Given the description of an element on the screen output the (x, y) to click on. 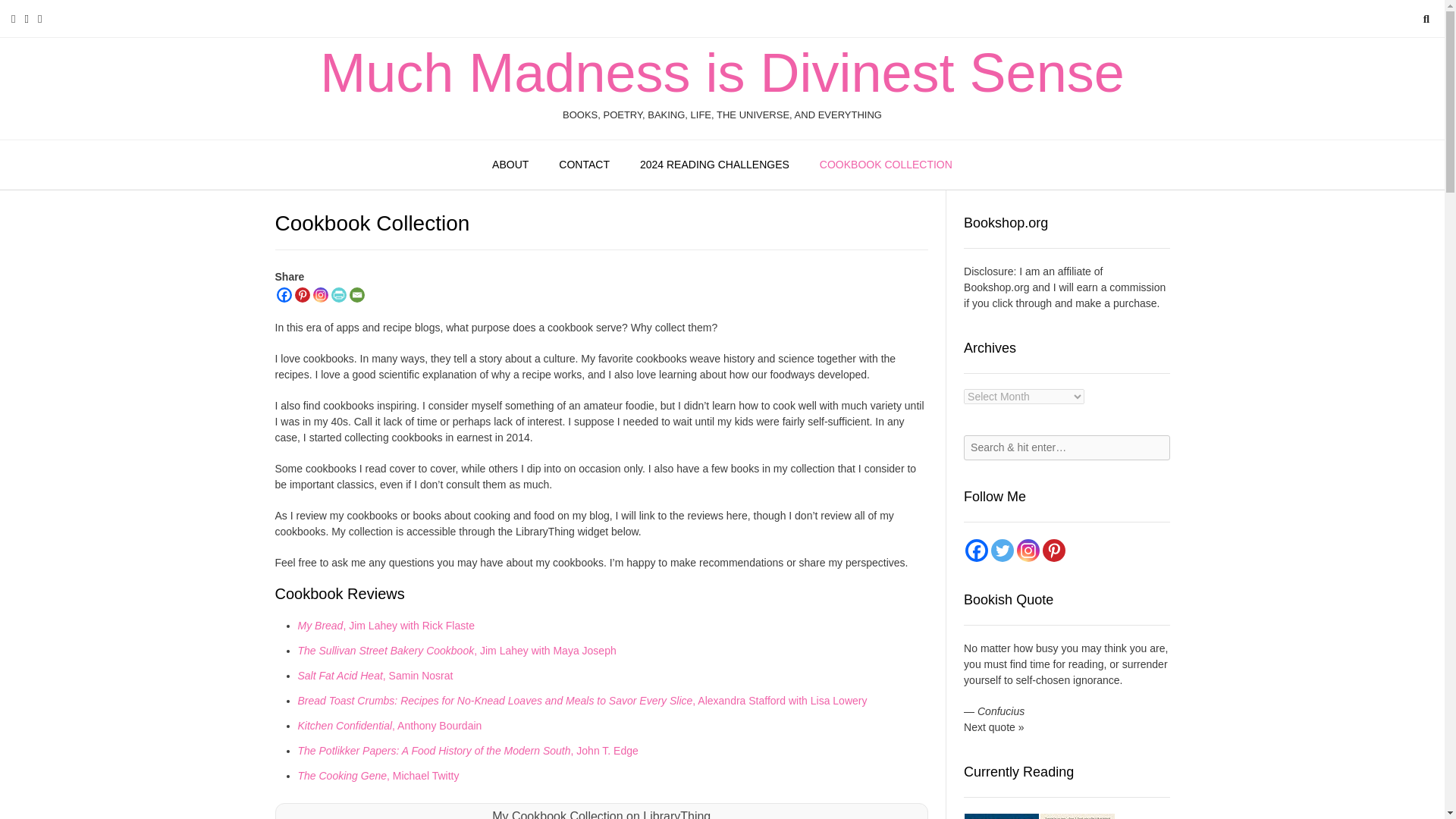
Pinterest (301, 294)
COOKBOOK COLLECTION (886, 165)
Bookshop.org (996, 287)
2024 READING CHALLENGES (714, 165)
Instagram (320, 294)
My Cookbook Collection on LibraryThing (601, 814)
Salt Fat Acid Heat, Samin Nosrat (374, 675)
CONTACT (583, 165)
The Cooking Gene, Michael Twitty (377, 775)
